Given the description of an element on the screen output the (x, y) to click on. 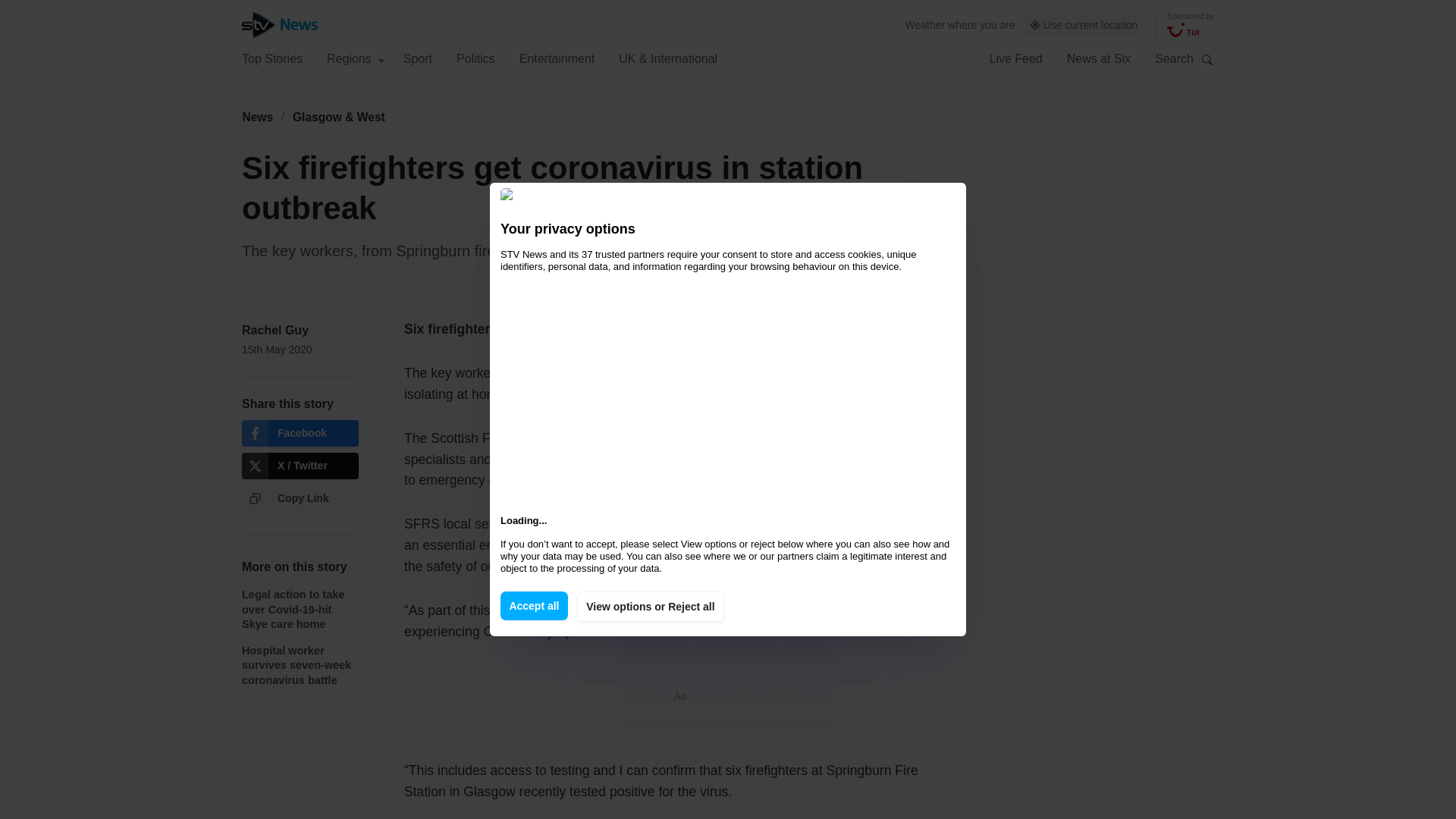
Use current location (1083, 25)
Politics (476, 57)
Entertainment (557, 57)
Top Stories (271, 57)
News (257, 116)
News at Six (1099, 57)
Rachel Guy (274, 329)
Search (1206, 59)
Regions (355, 57)
Weather (924, 24)
Live Feed (1015, 57)
